Given the description of an element on the screen output the (x, y) to click on. 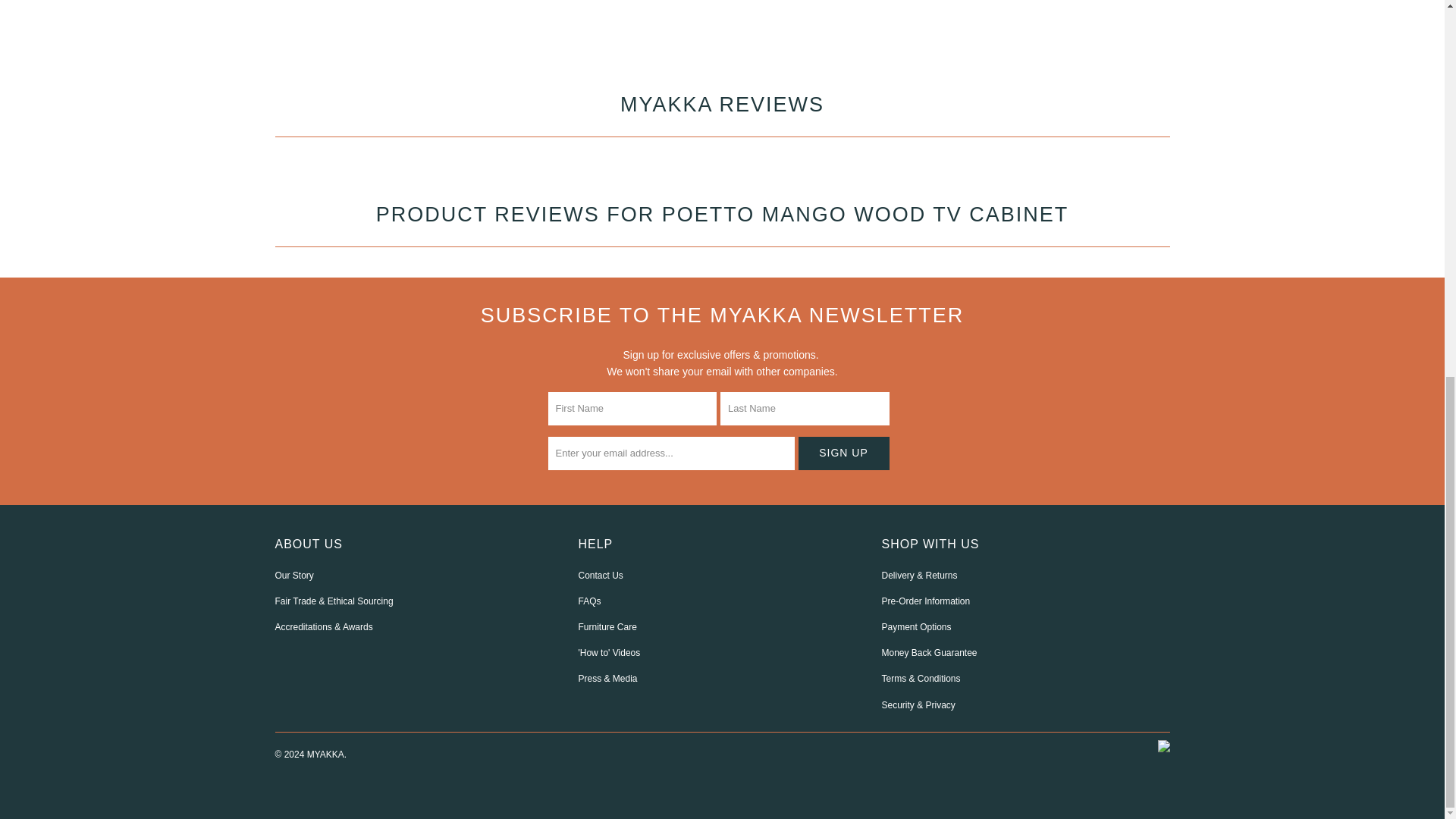
Sign Up (842, 453)
